Given the description of an element on the screen output the (x, y) to click on. 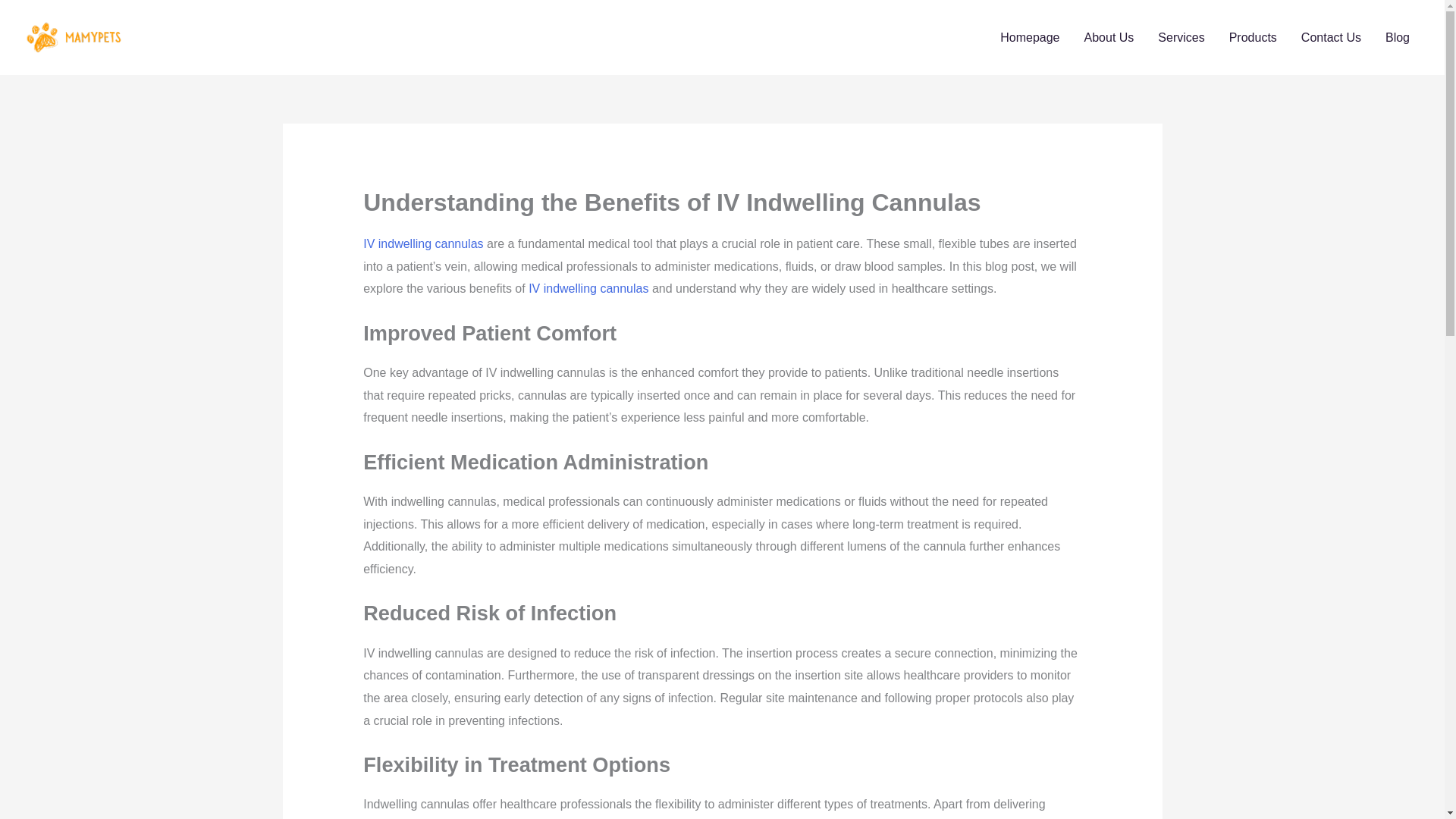
Services (1180, 36)
About Us (1109, 36)
Products (1252, 36)
Contact Us (1330, 36)
IV indwelling cannulas (422, 243)
IV indwelling cannulas (587, 287)
Blog (1397, 36)
Homepage (1029, 36)
